Given the description of an element on the screen output the (x, y) to click on. 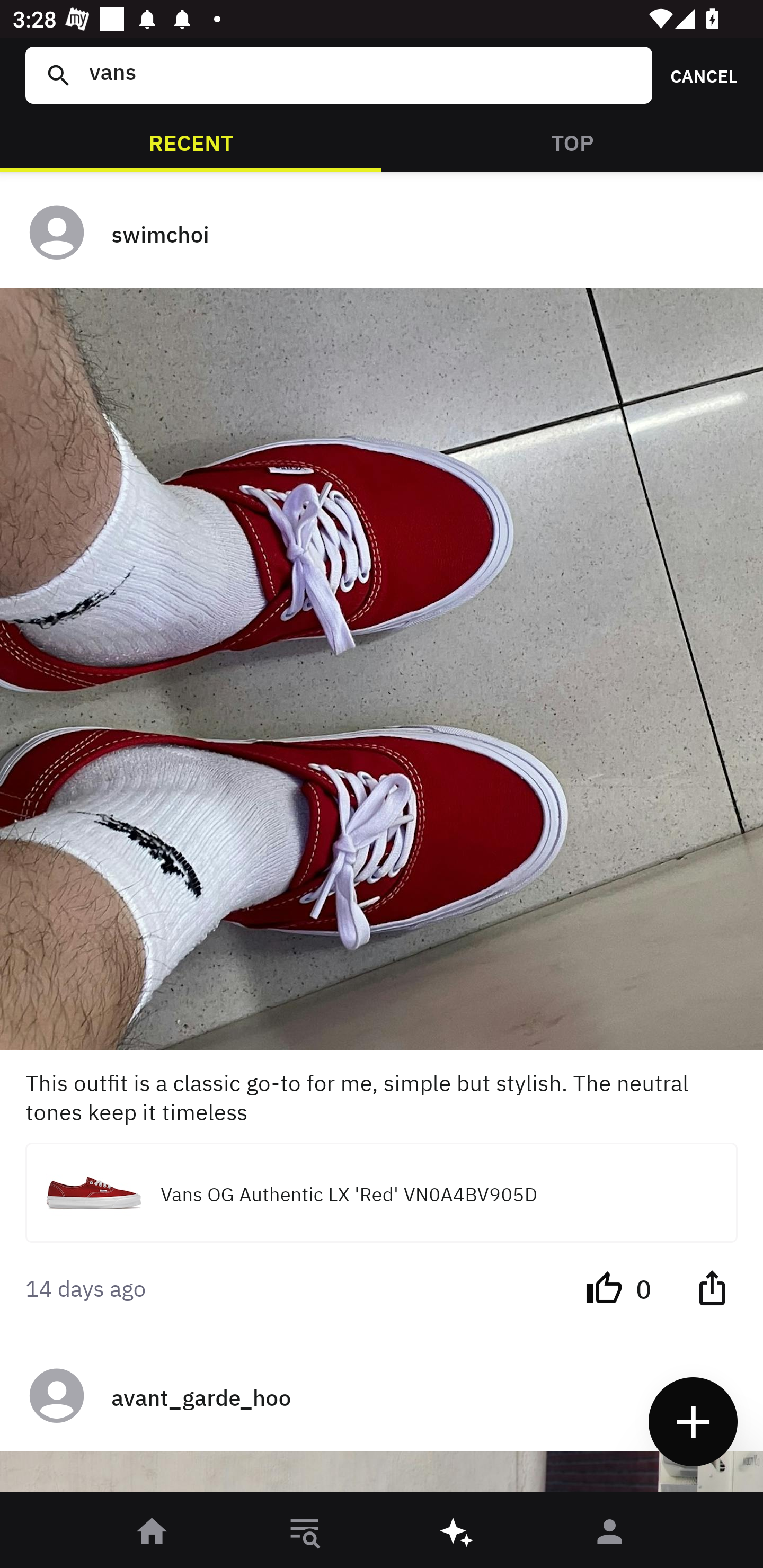
CANCEL (697, 74)
vans (358, 75)
RECENT (190, 140)
TOP (572, 140)
Vans OG Authentic LX 'Red' VN0A4BV905D (381, 1193)
󰔔 (603, 1287)
 (711, 1287)
󰋜 (152, 1532)
󱎸 (305, 1532)
󰫢 (457, 1532)
󰀄 (610, 1532)
